Given the description of an element on the screen output the (x, y) to click on. 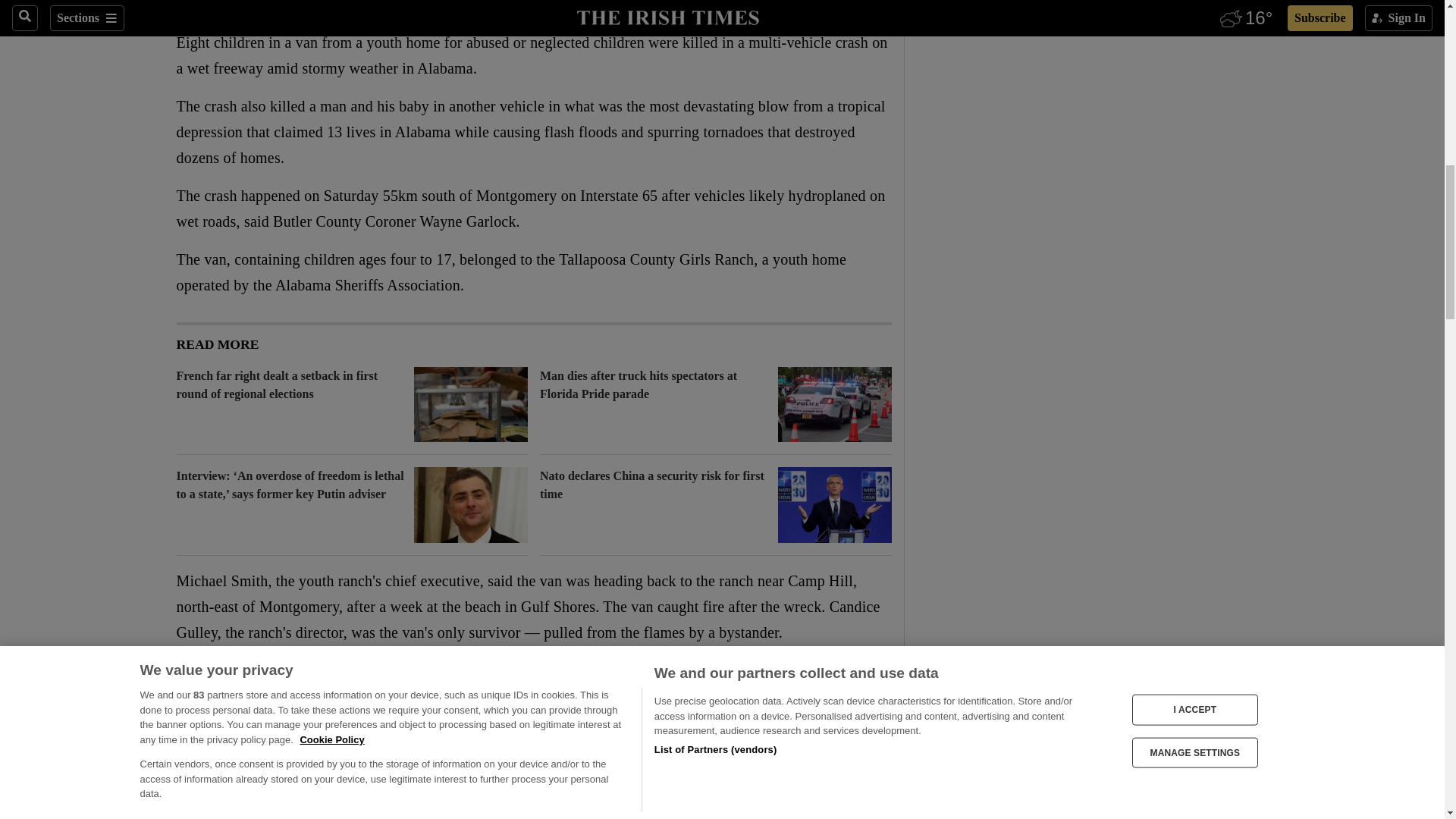
WhatsApp (244, 8)
X (215, 8)
Facebook (184, 8)
